Given the description of an element on the screen output the (x, y) to click on. 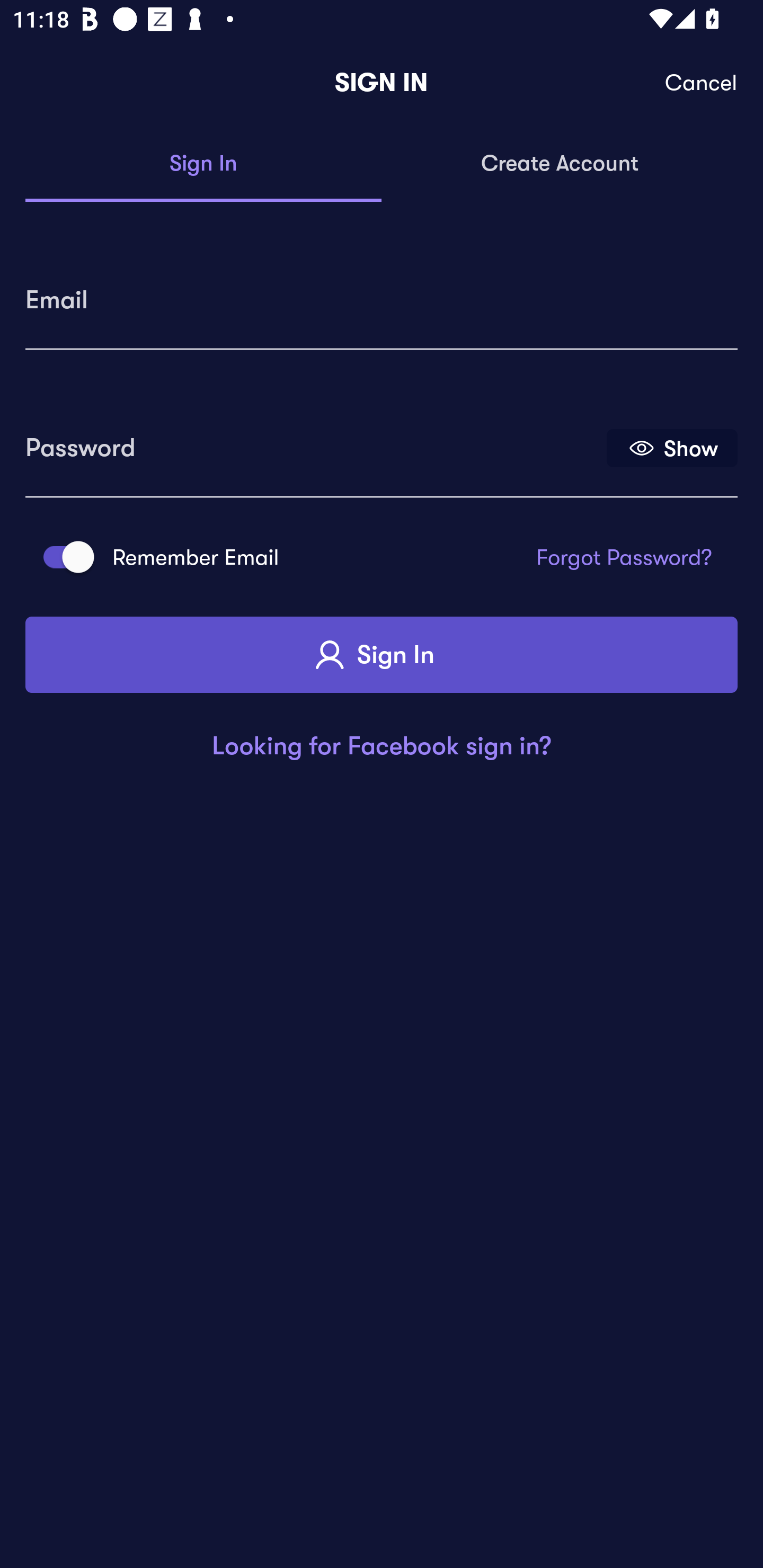
Cancel (701, 82)
Sign In (203, 164)
Create Account (559, 164)
Email (381, 293)
Password (314, 441)
Show Password Show (671, 447)
Remember Email (62, 557)
Sign In (381, 654)
